Given the description of an element on the screen output the (x, y) to click on. 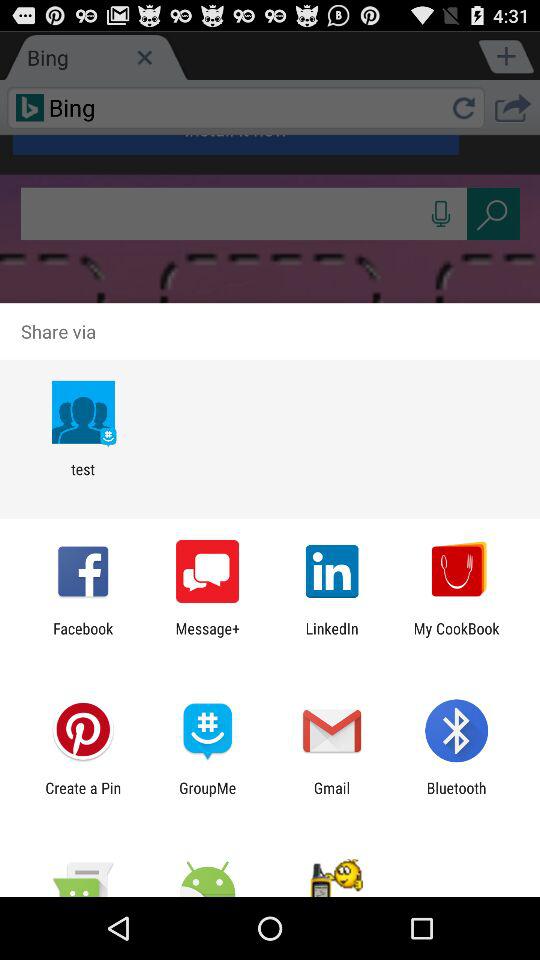
press message+ item (207, 637)
